Given the description of an element on the screen output the (x, y) to click on. 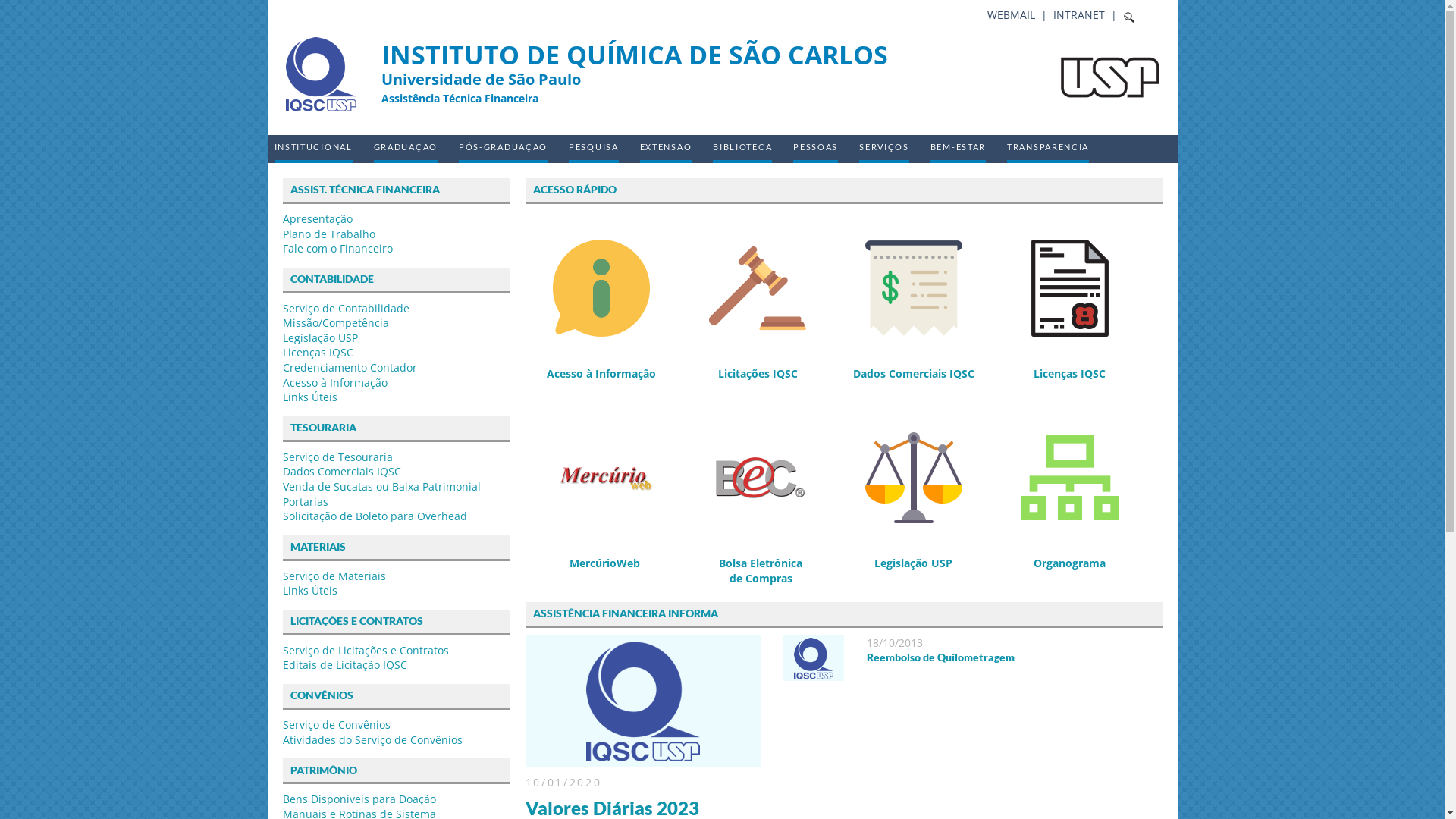
Fale com o Financeiro Element type: text (337, 248)
Credenciamento Contador Element type: text (349, 367)
Plano de Trabalho Element type: text (328, 233)
Organograma Element type: text (1069, 500)
Reembolso de Quilometragem Element type: text (939, 656)
Venda de Sucatas ou Baixa Patrimonial Element type: text (381, 486)
Dados Comerciais IQSC Element type: text (913, 310)
BIBLIOTECA Element type: text (741, 148)
Dados Comerciais IQSC Element type: text (341, 471)
Portarias Element type: text (304, 501)
BEM-ESTAR Element type: text (957, 148)
INSTITUCIONAL Element type: text (313, 148)
PESSOAS Element type: text (815, 148)
Busca Element type: text (29, 13)
PESQUISA Element type: text (593, 148)
Reembolso de Quilometragem Element type: hover (812, 672)
